Given the description of an element on the screen output the (x, y) to click on. 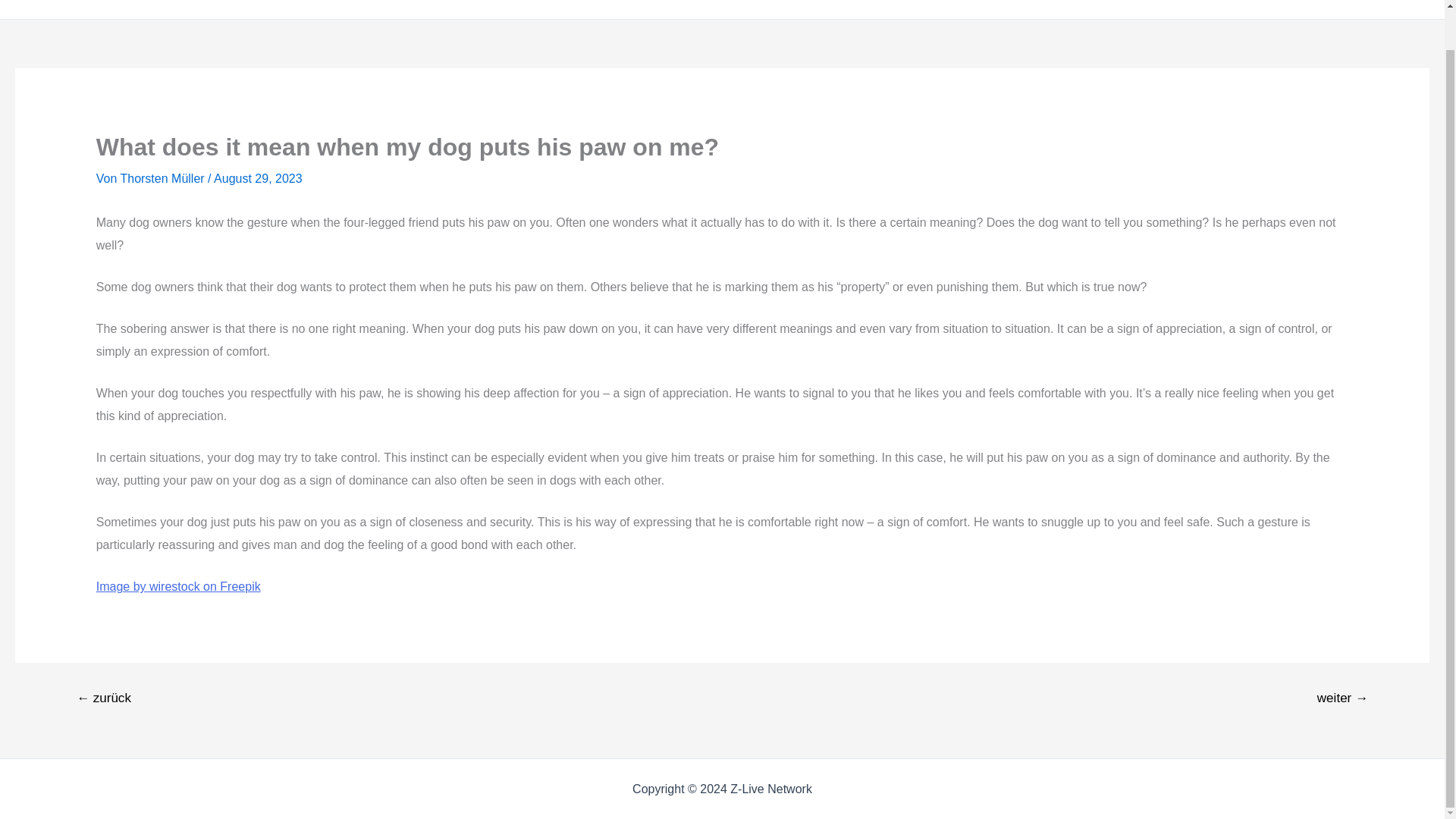
Image by wirestock on Freepik (178, 585)
